Given the description of an element on the screen output the (x, y) to click on. 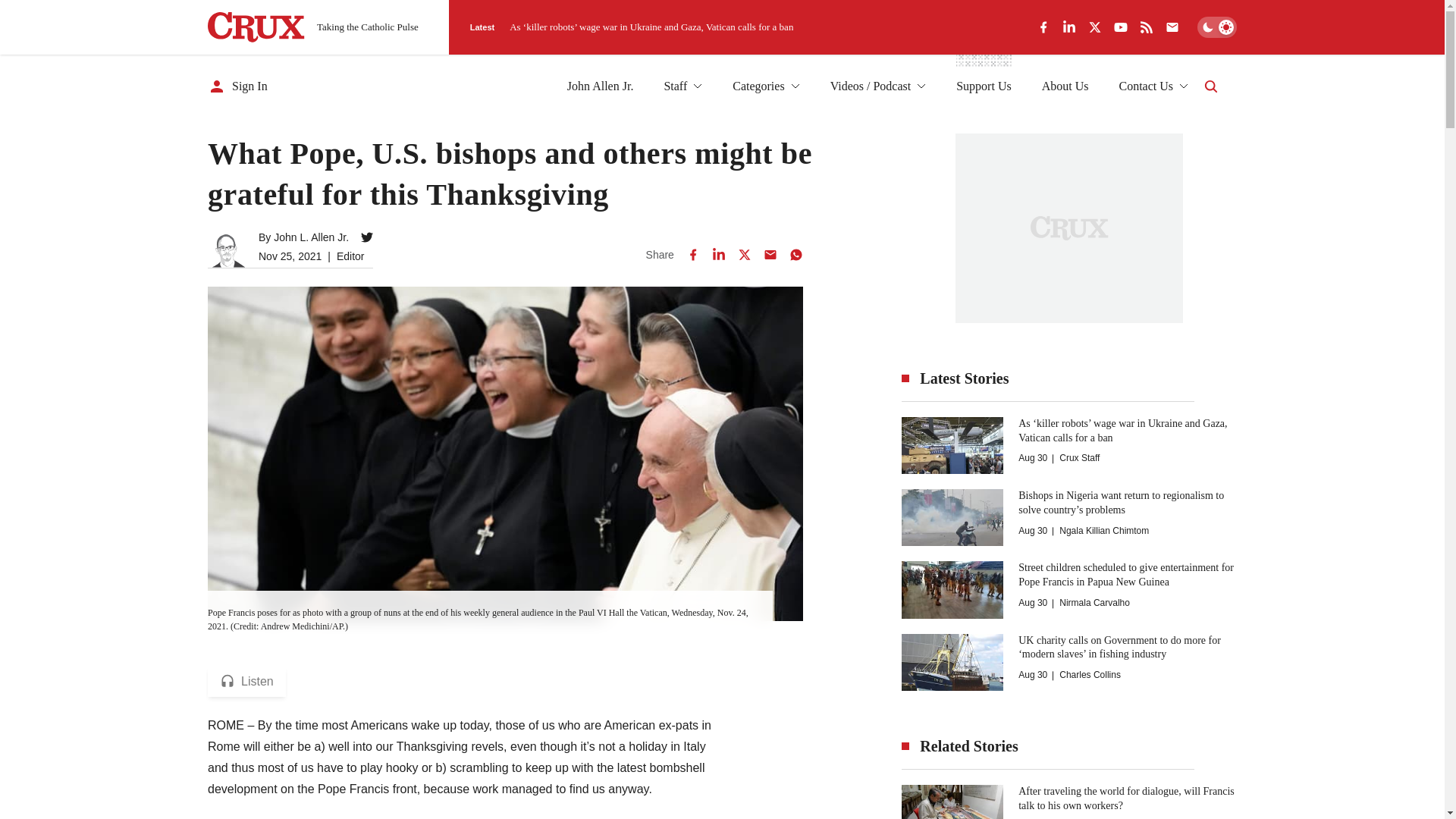
Categories (765, 85)
John Allen Jr. (600, 85)
Staff (682, 85)
Contact Us (1153, 85)
About Us (1065, 85)
Support Us (983, 85)
Sign In (237, 85)
